Given the description of an element on the screen output the (x, y) to click on. 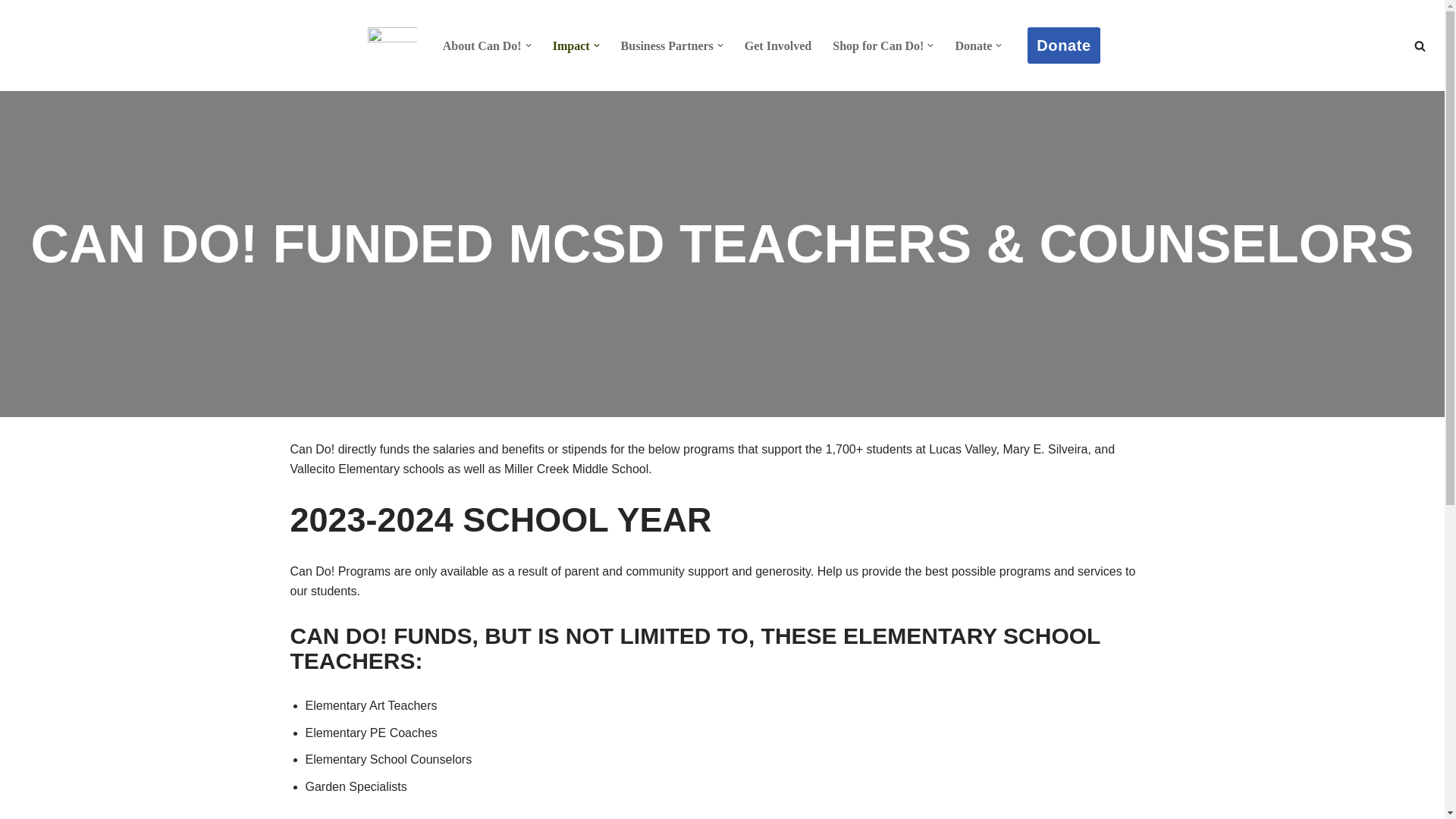
About Can Do! (481, 46)
Donate (973, 46)
Business Partners (667, 46)
Donate (1063, 45)
Shop for Can Do! (877, 46)
Impact (571, 46)
Get Involved (777, 46)
Skip to content (11, 31)
